Given the description of an element on the screen output the (x, y) to click on. 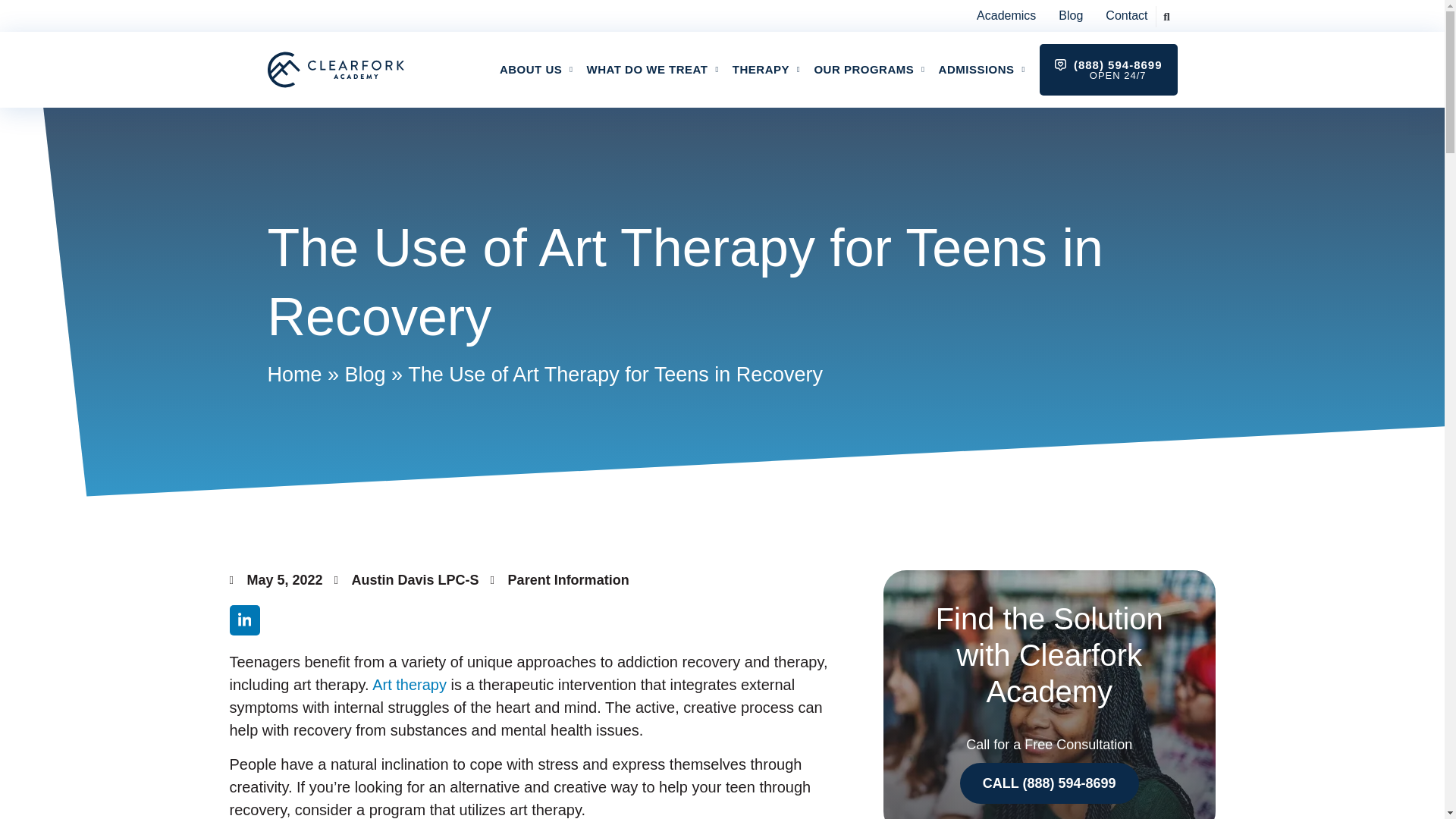
Contact (1126, 15)
Blog (1070, 15)
WHAT DO WE TREAT (652, 69)
THERAPY (766, 69)
OUR PROGRAMS (868, 69)
ABOUT US (536, 69)
Academics (1005, 15)
